Given the description of an element on the screen output the (x, y) to click on. 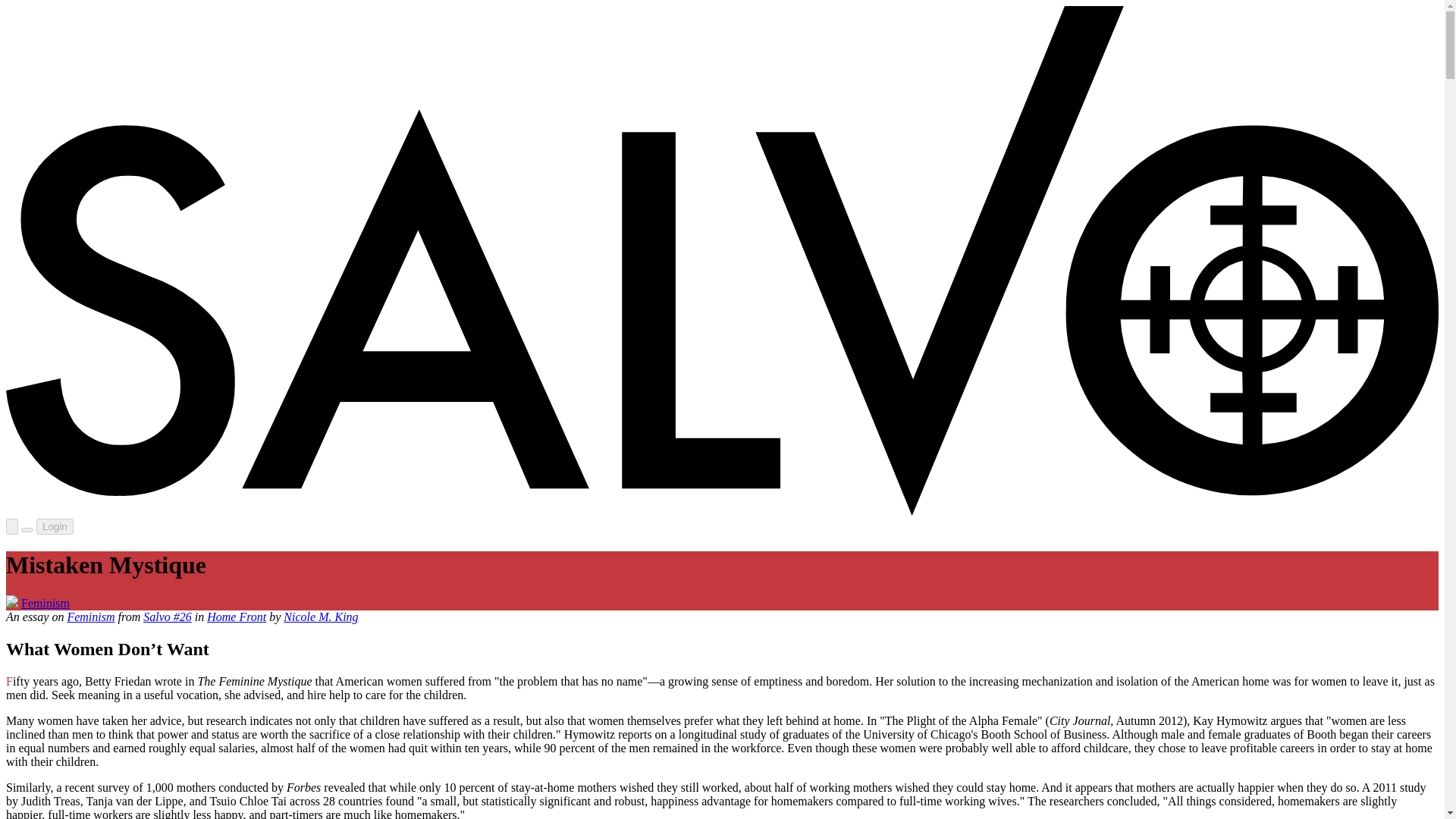
Feminism (45, 603)
Feminism (90, 616)
Home Front (236, 616)
Login (55, 526)
Nicole M. King (320, 616)
